Given the description of an element on the screen output the (x, y) to click on. 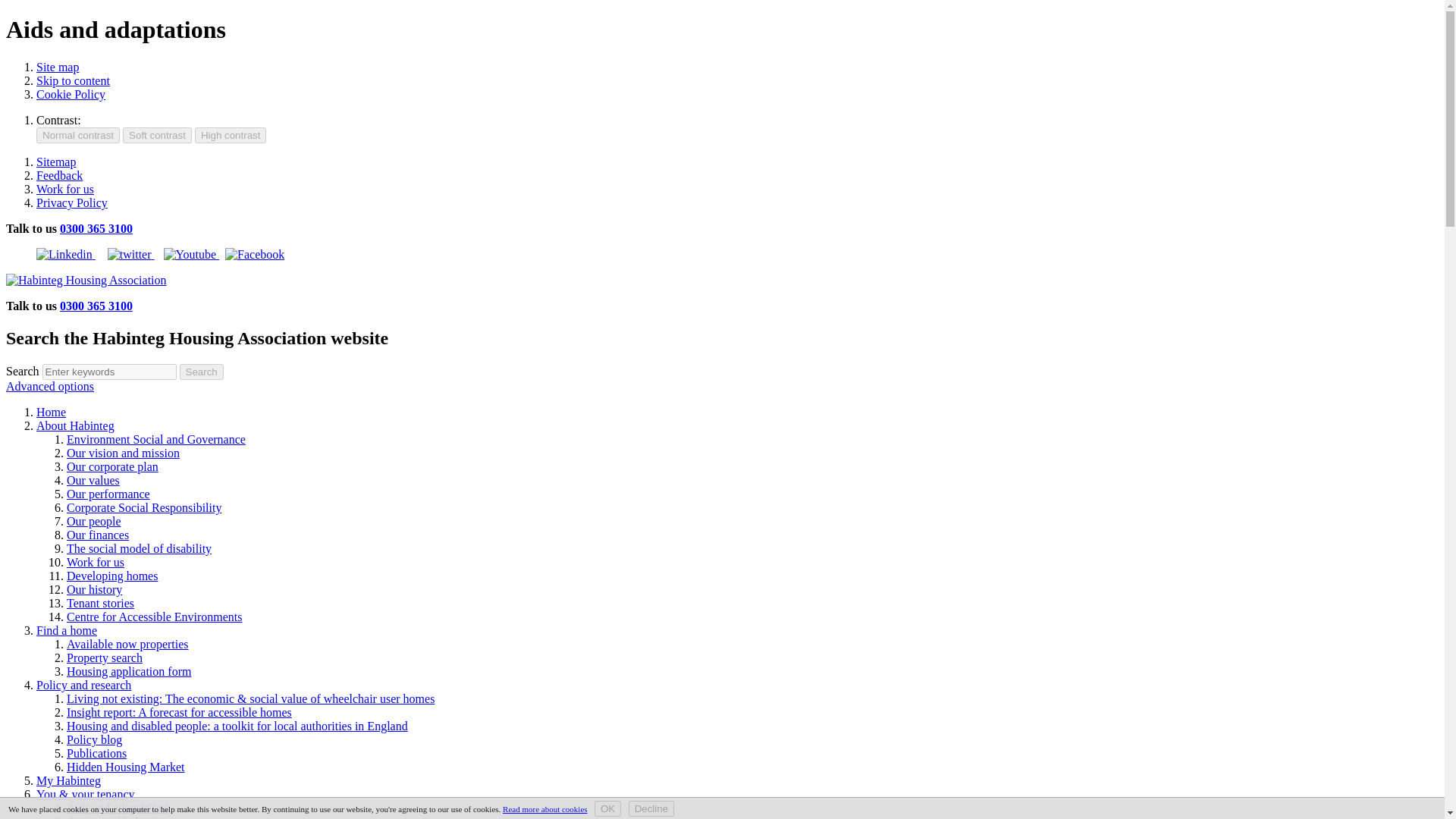
Skip to content (73, 80)
Advanced options (49, 386)
Housing application form (128, 671)
Find a home (66, 630)
Developing homes (111, 575)
Our finances (97, 534)
Policy and research (83, 684)
Our people (93, 521)
Our performance (107, 493)
Site map (57, 66)
